Given the description of an element on the screen output the (x, y) to click on. 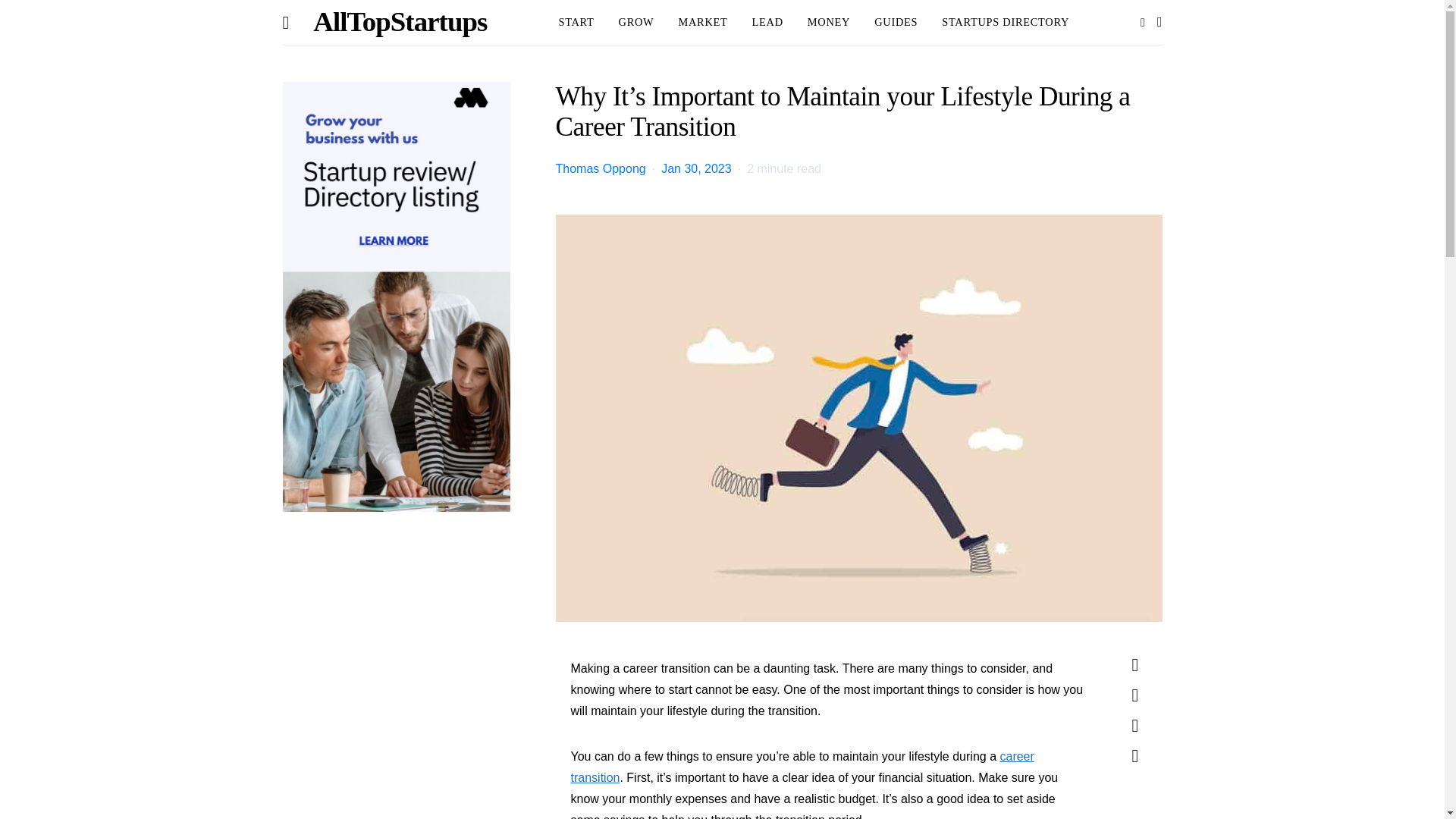
STARTUPS DIRECTORY (1005, 22)
Jan 30, 2023 (696, 168)
MONEY (829, 22)
GUIDES (896, 22)
AllTopStartups (399, 22)
View all posts by Thomas Oppong (599, 168)
Thomas Oppong (599, 168)
career transition (801, 766)
MARKET (702, 22)
